Given the description of an element on the screen output the (x, y) to click on. 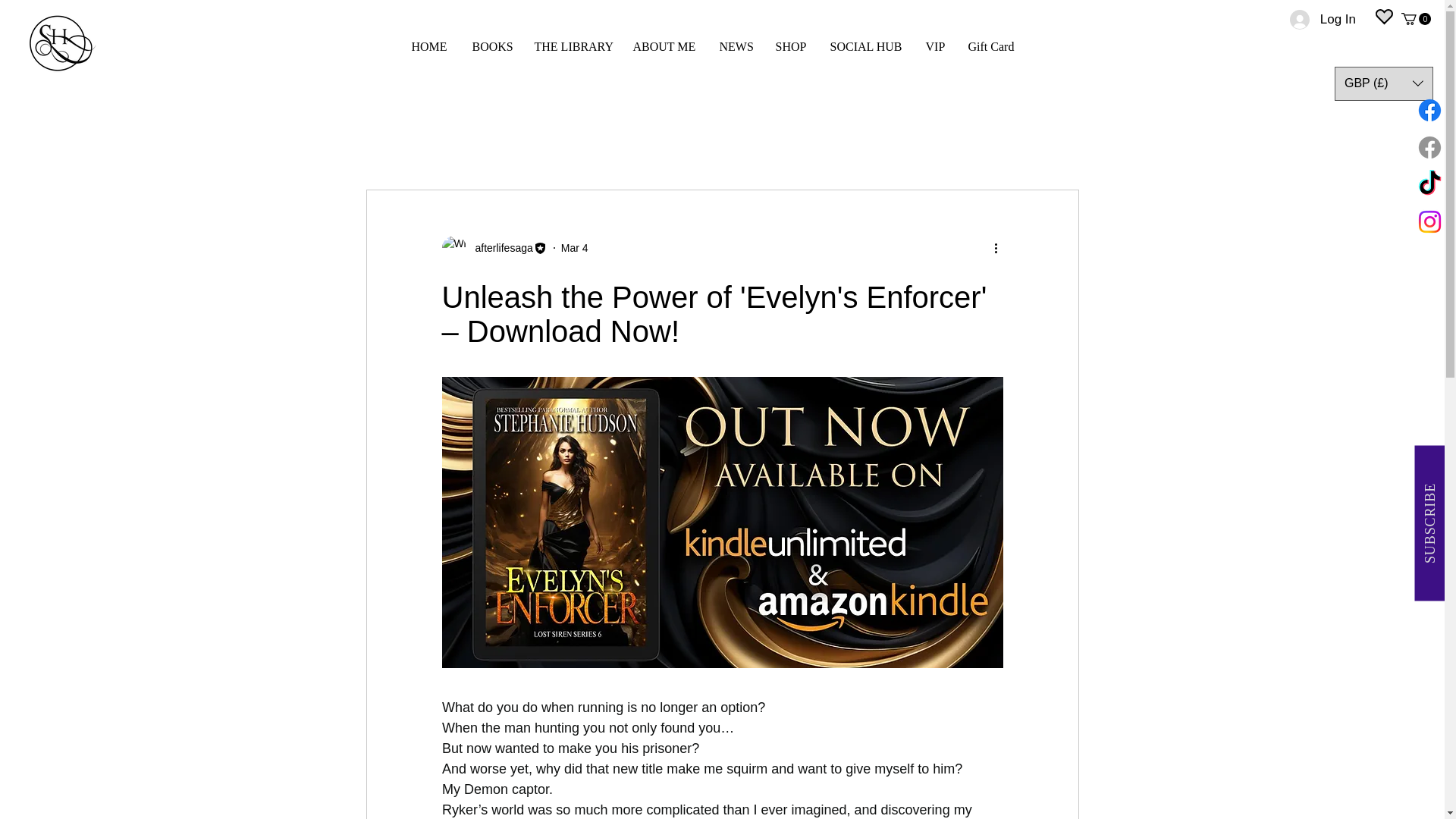
VIP (454, 143)
ABOUT ME (664, 46)
SH with sigils Logo silver AW copy.png (62, 44)
BOOKS (491, 46)
0 (1415, 18)
NEWS (735, 46)
All Posts (389, 143)
Mar 4 (574, 246)
afterlifesaga (498, 247)
Favorites (1344, 54)
Log In (1323, 19)
0 (1415, 19)
SHOP (791, 46)
afterlifesaga (494, 247)
Gift Card (999, 46)
